Given the description of an element on the screen output the (x, y) to click on. 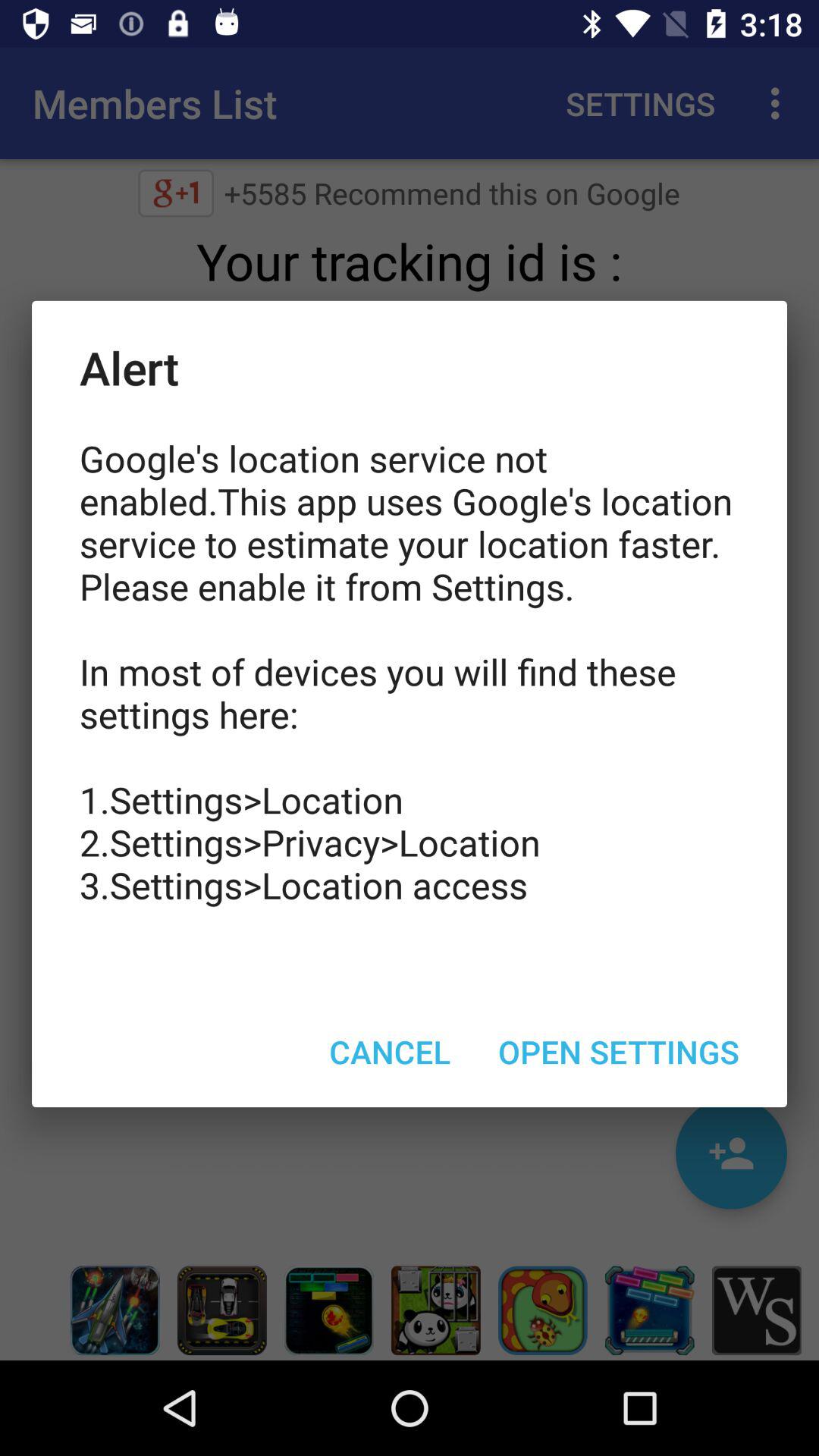
choose item to the left of the open settings (389, 1051)
